Given the description of an element on the screen output the (x, y) to click on. 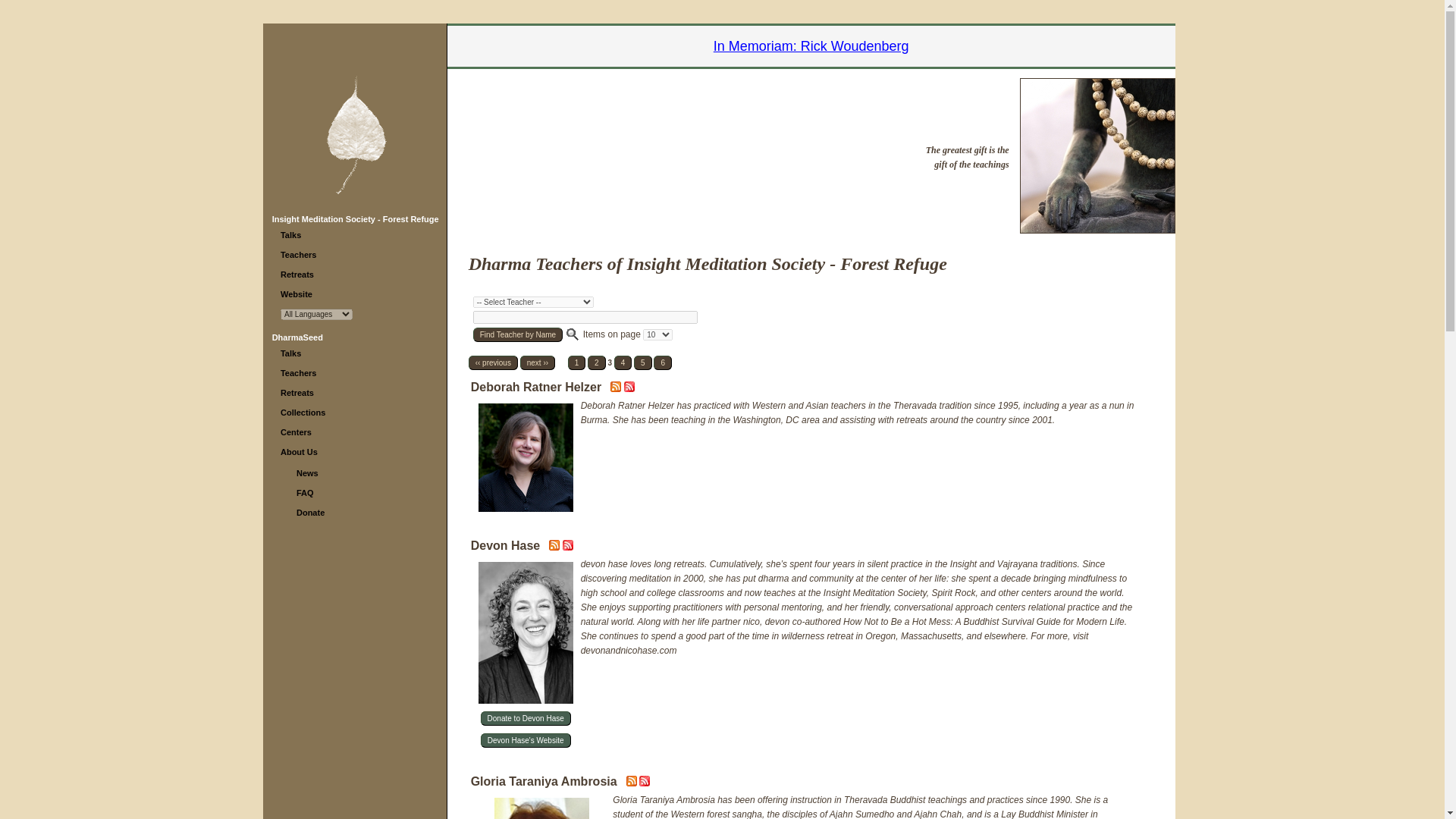
Donate to Devon Hase (525, 718)
5 (642, 362)
Deborah Ratner Helzer (536, 388)
6 (662, 362)
Gloria Taraniya Ambrosia's most recent talks (632, 783)
FAQ (305, 492)
DharmaSeed (297, 337)
Find Teacher by Name (517, 334)
In Memoriam: Rick Woudenberg (810, 46)
1 (576, 362)
Devon Hase's most recent talks (555, 547)
Insight Meditation Society - Forest Refuge (355, 218)
Teachers (299, 372)
4 (622, 362)
All 14 of Deborah Ratner Helzer's talks (629, 388)
